Given the description of an element on the screen output the (x, y) to click on. 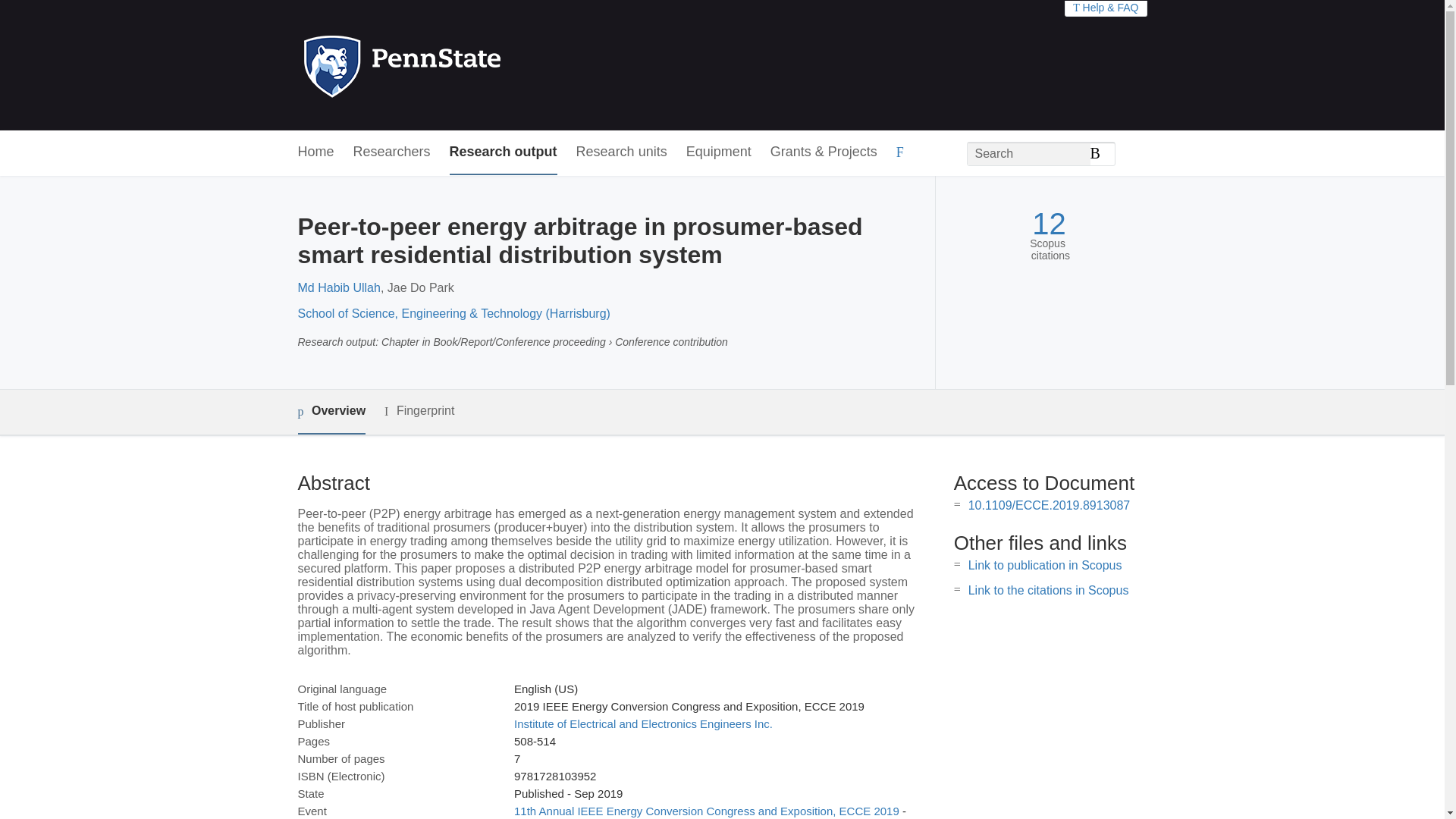
Penn State Home (467, 65)
Link to the citations in Scopus (1048, 590)
Overview (331, 411)
Research output (503, 152)
Equipment (718, 152)
Fingerprint (419, 411)
Institute of Electrical and Electronics Engineers Inc. (643, 723)
Research units (621, 152)
Link to publication in Scopus (1045, 564)
